Given the description of an element on the screen output the (x, y) to click on. 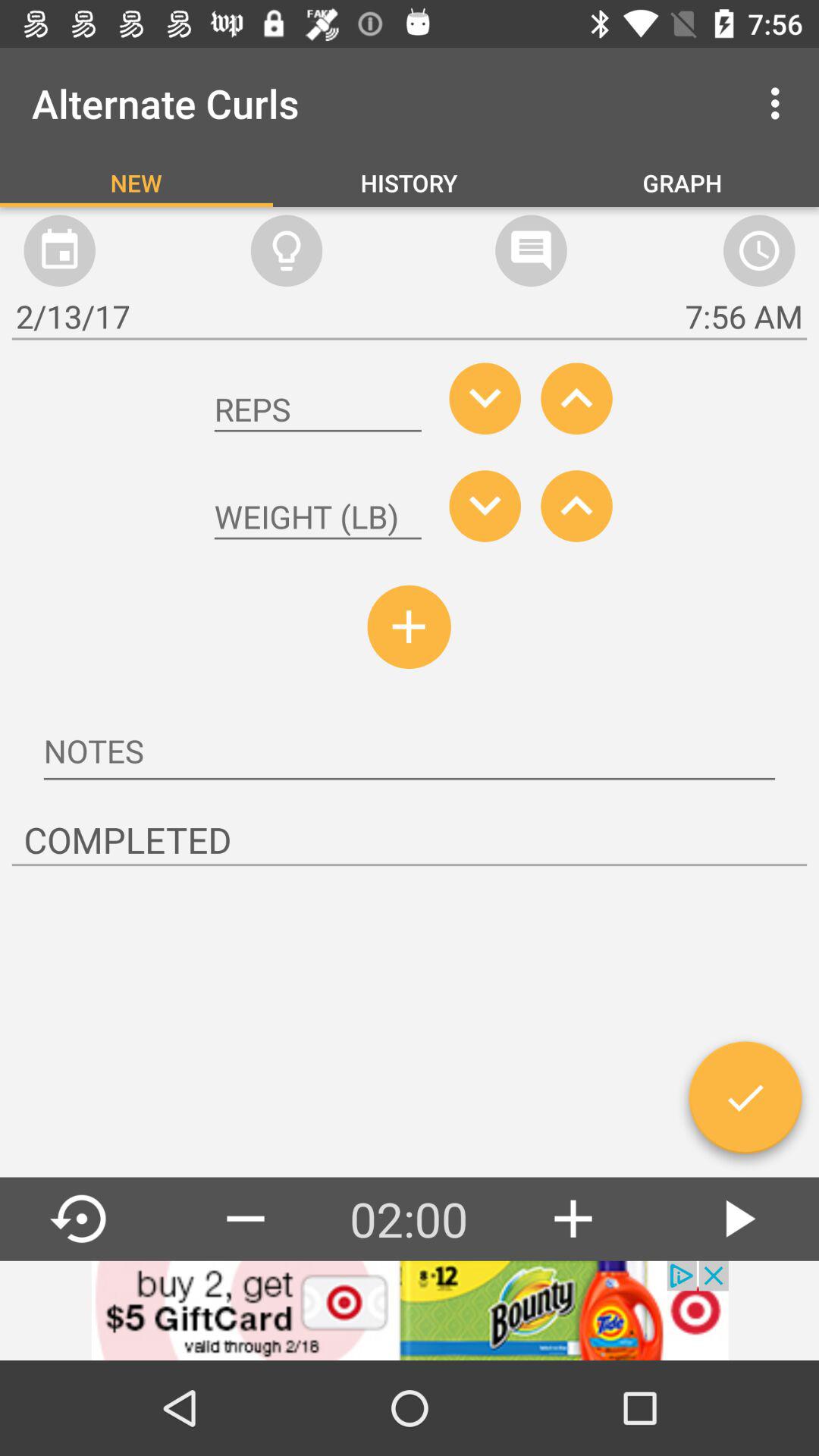
right option box (745, 1103)
